Given the description of an element on the screen output the (x, y) to click on. 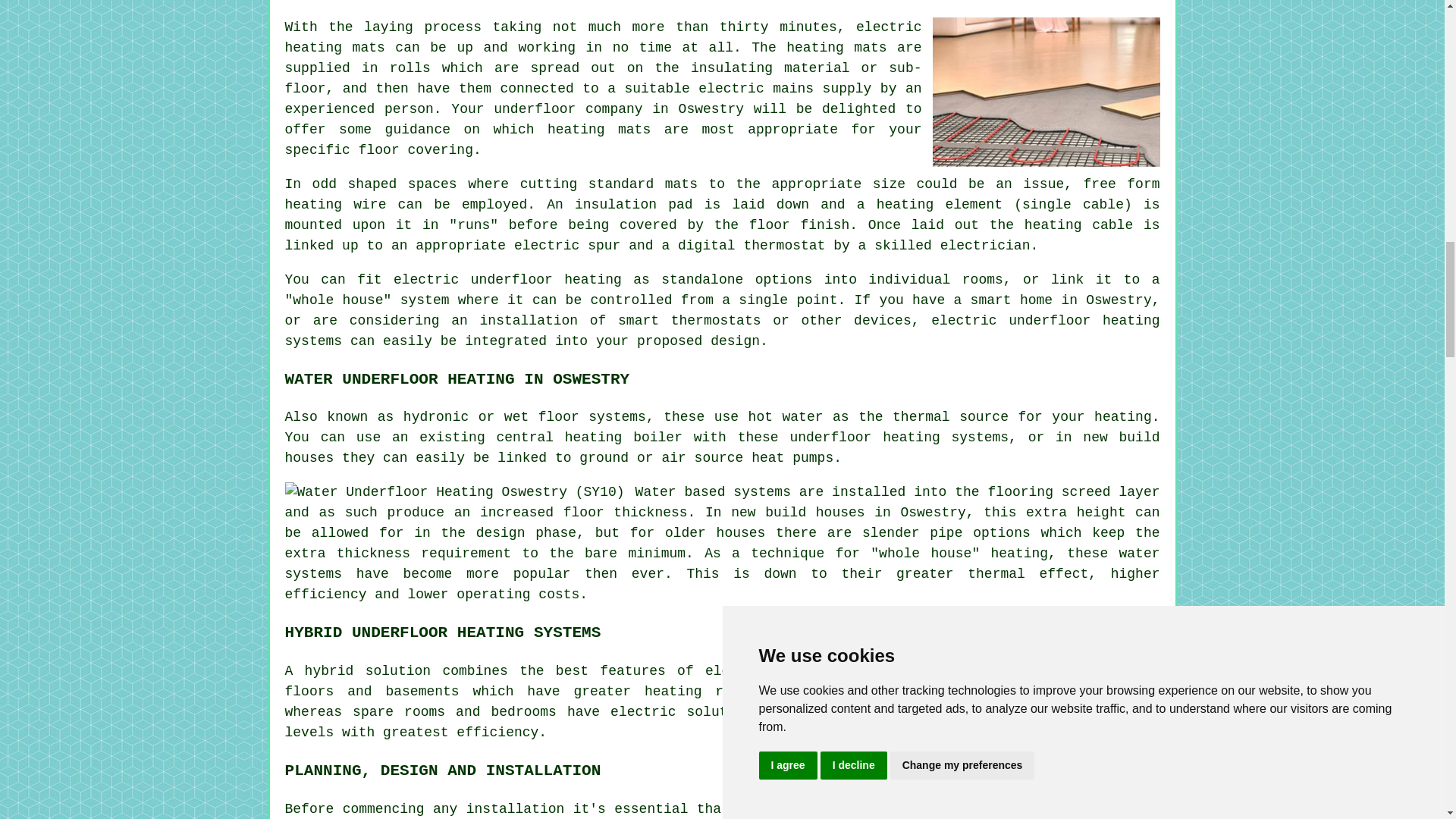
Electric Underfloor Heating Near Oswestry Shropshire (1046, 91)
